Given the description of an element on the screen output the (x, y) to click on. 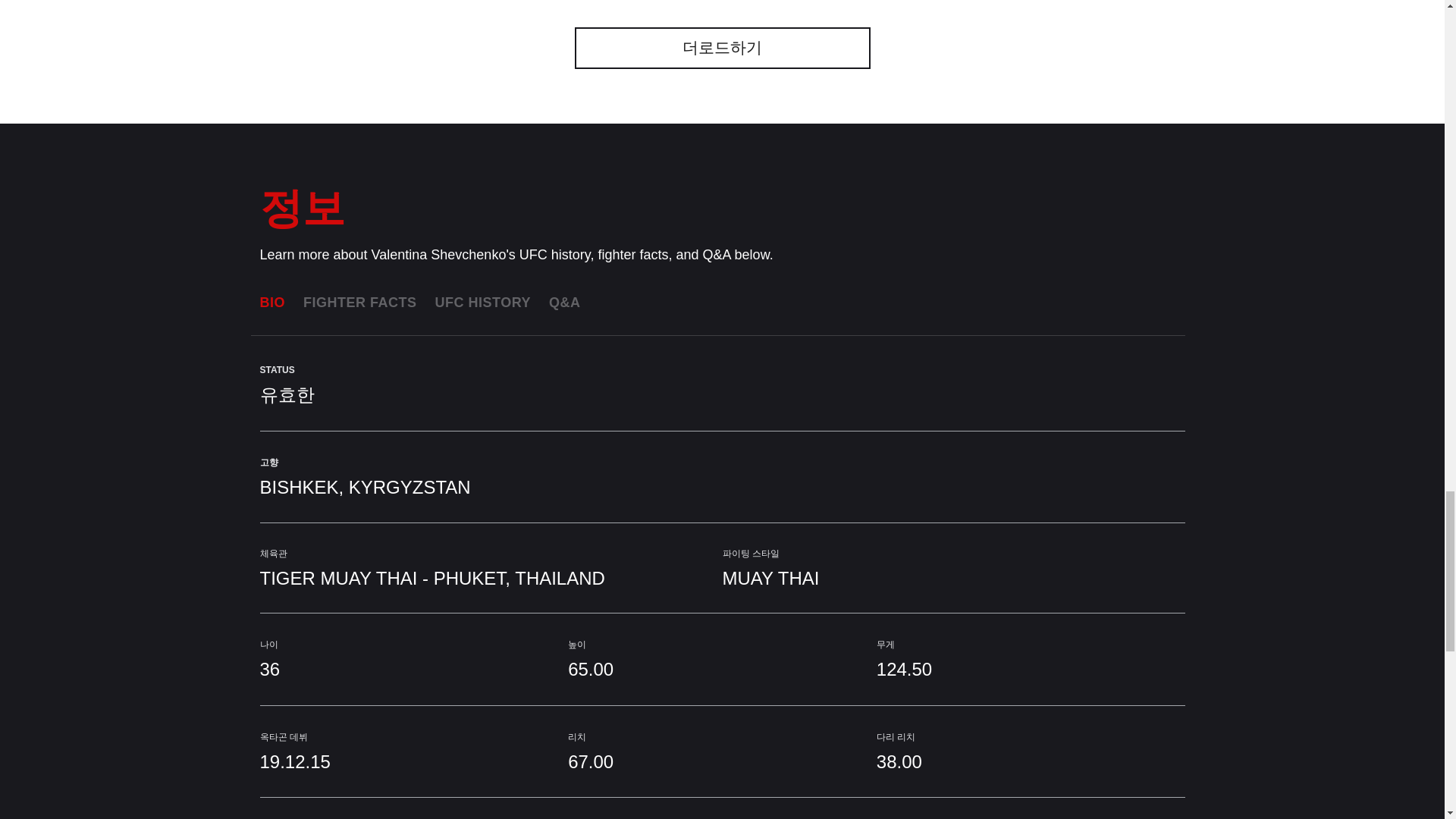
Load more items (722, 47)
